Given the description of an element on the screen output the (x, y) to click on. 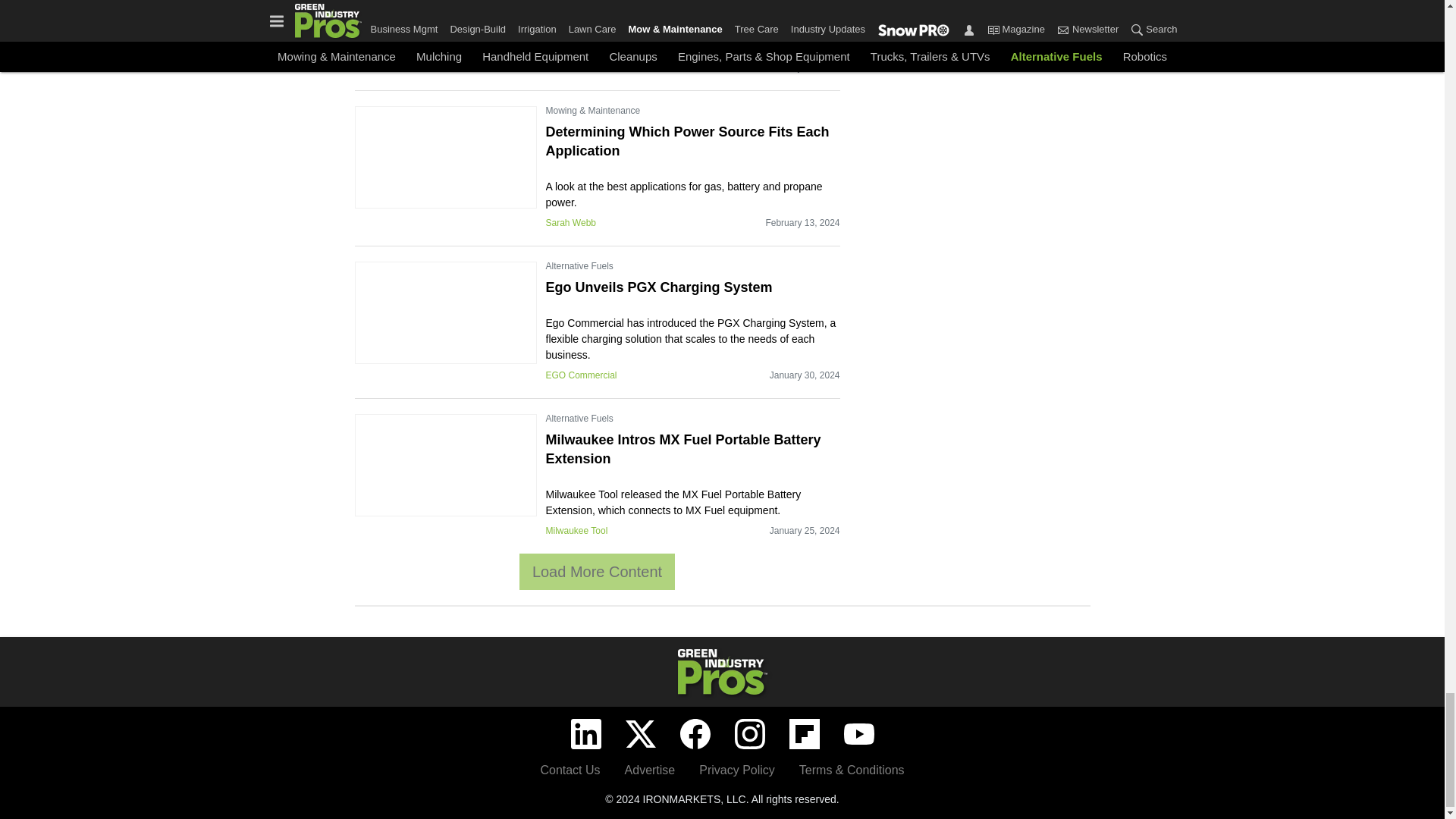
Instagram icon (748, 734)
Facebook icon (694, 734)
Twitter X icon (639, 734)
Flipboard icon (803, 734)
LinkedIn icon (584, 734)
